Given the description of an element on the screen output the (x, y) to click on. 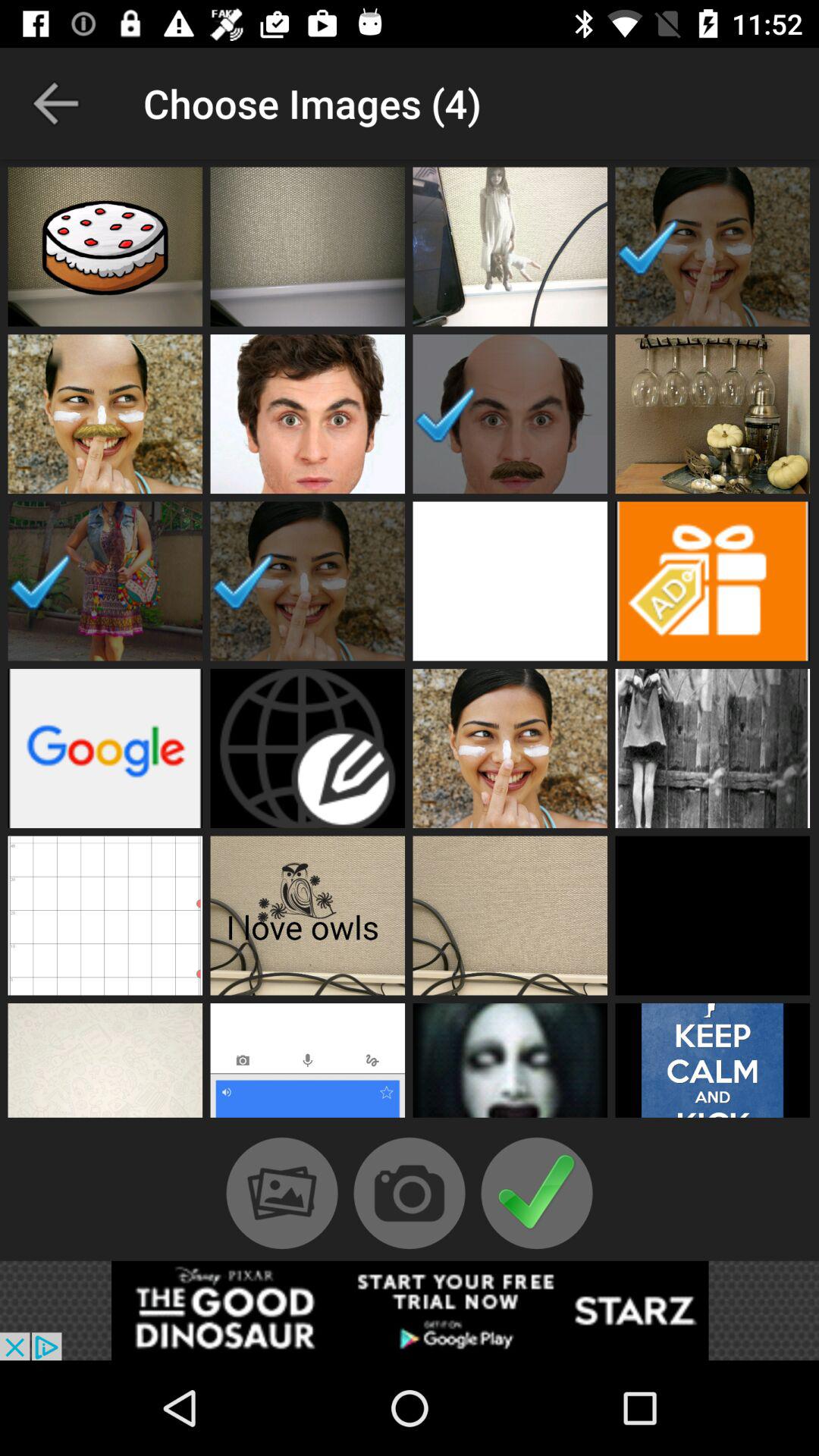
image thumbnails (509, 1064)
